Given the description of an element on the screen output the (x, y) to click on. 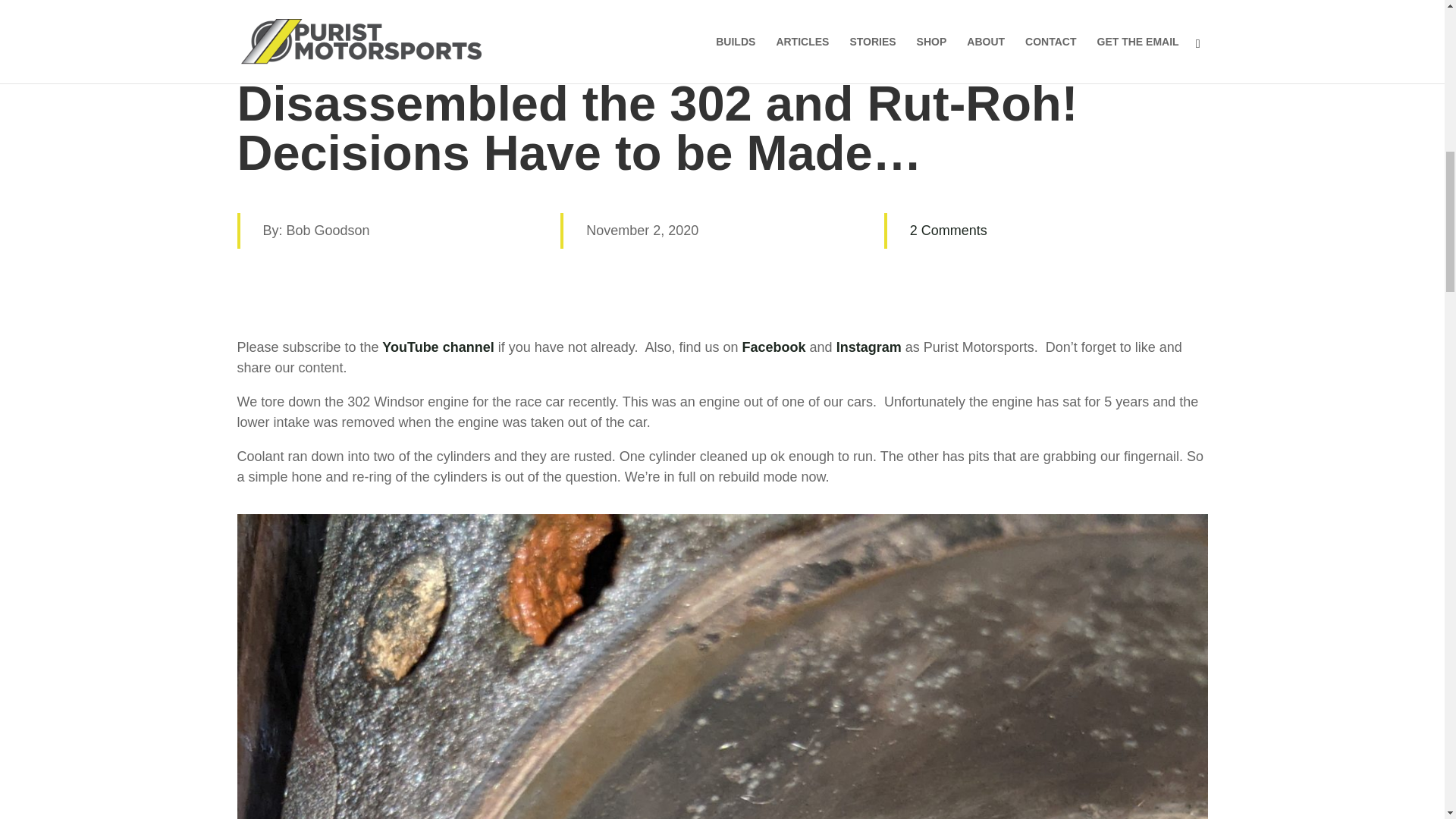
2 Comments (948, 230)
YouTube channel  (439, 346)
Instagram (868, 346)
Facebook (774, 346)
